Given the description of an element on the screen output the (x, y) to click on. 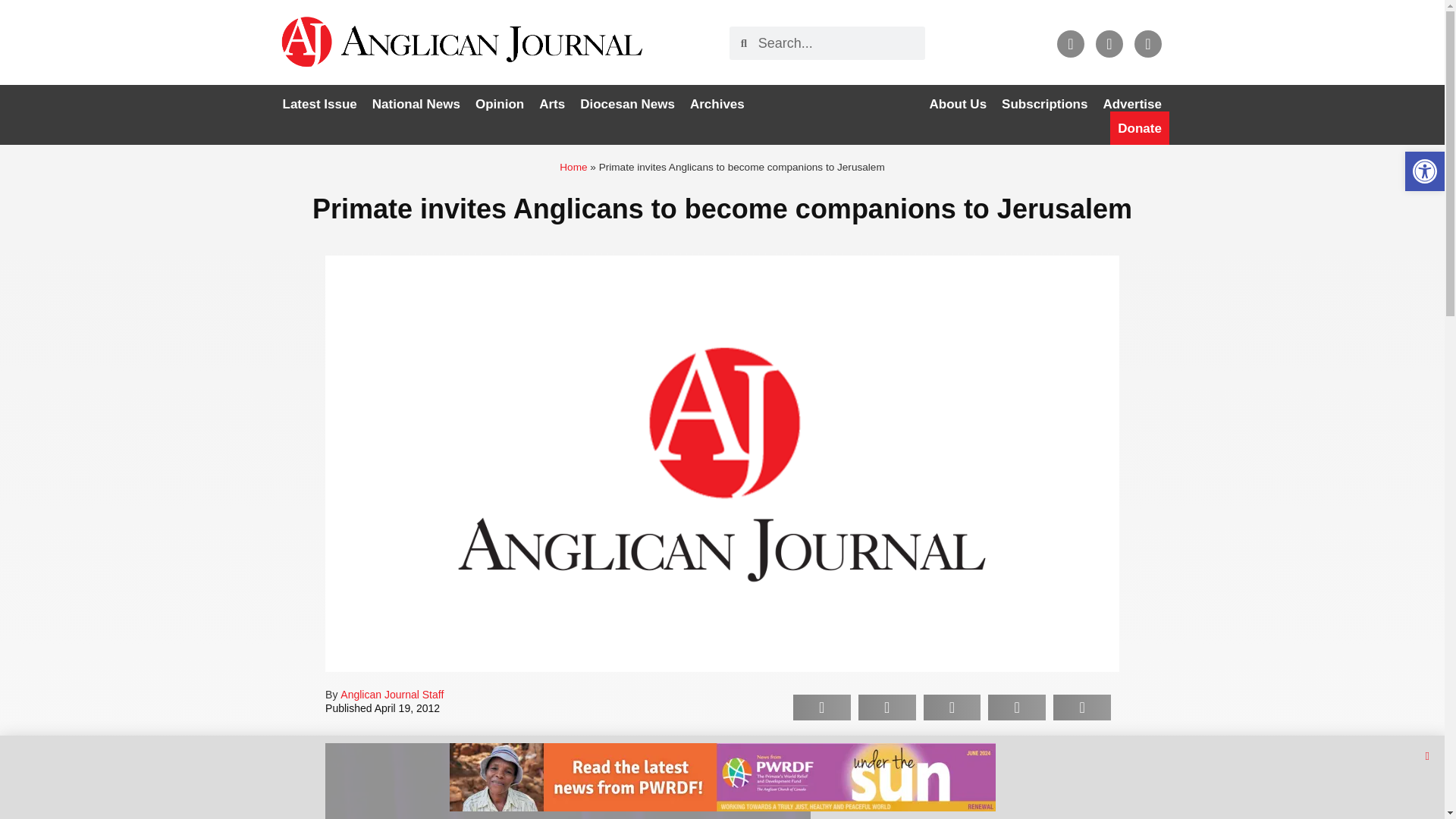
Diocesan News (627, 104)
Anglican Journal Staff (392, 694)
Accessibility Tools (1424, 170)
Opinion (499, 104)
Arts (551, 104)
Latest Issue (319, 104)
Archives (717, 104)
National News (416, 104)
